Given the description of an element on the screen output the (x, y) to click on. 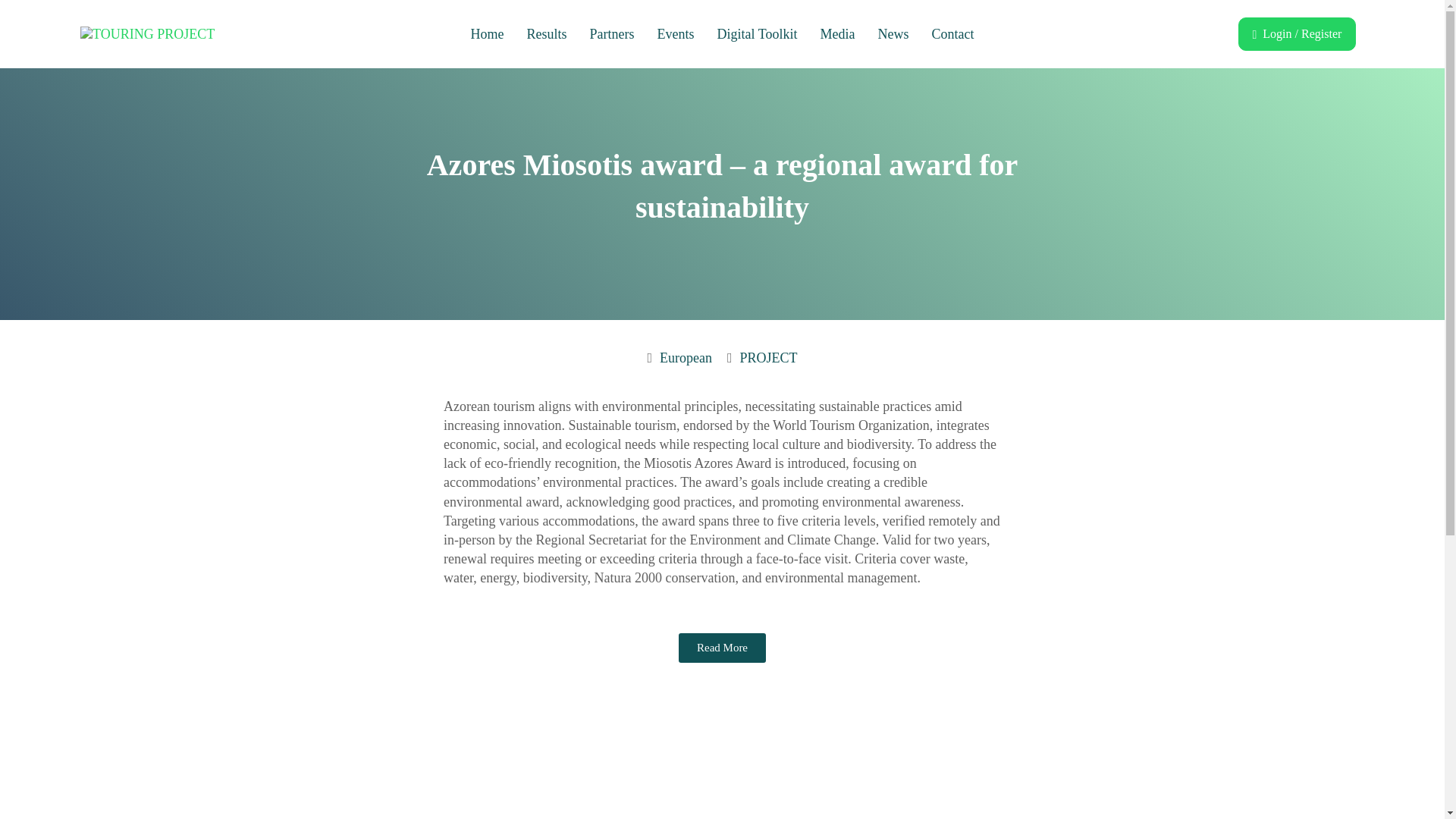
Events (676, 33)
News (892, 33)
Partners (611, 33)
Results (547, 33)
Digital Toolkit (757, 33)
Media (836, 33)
Contact (952, 33)
Home (486, 33)
